Given the description of an element on the screen output the (x, y) to click on. 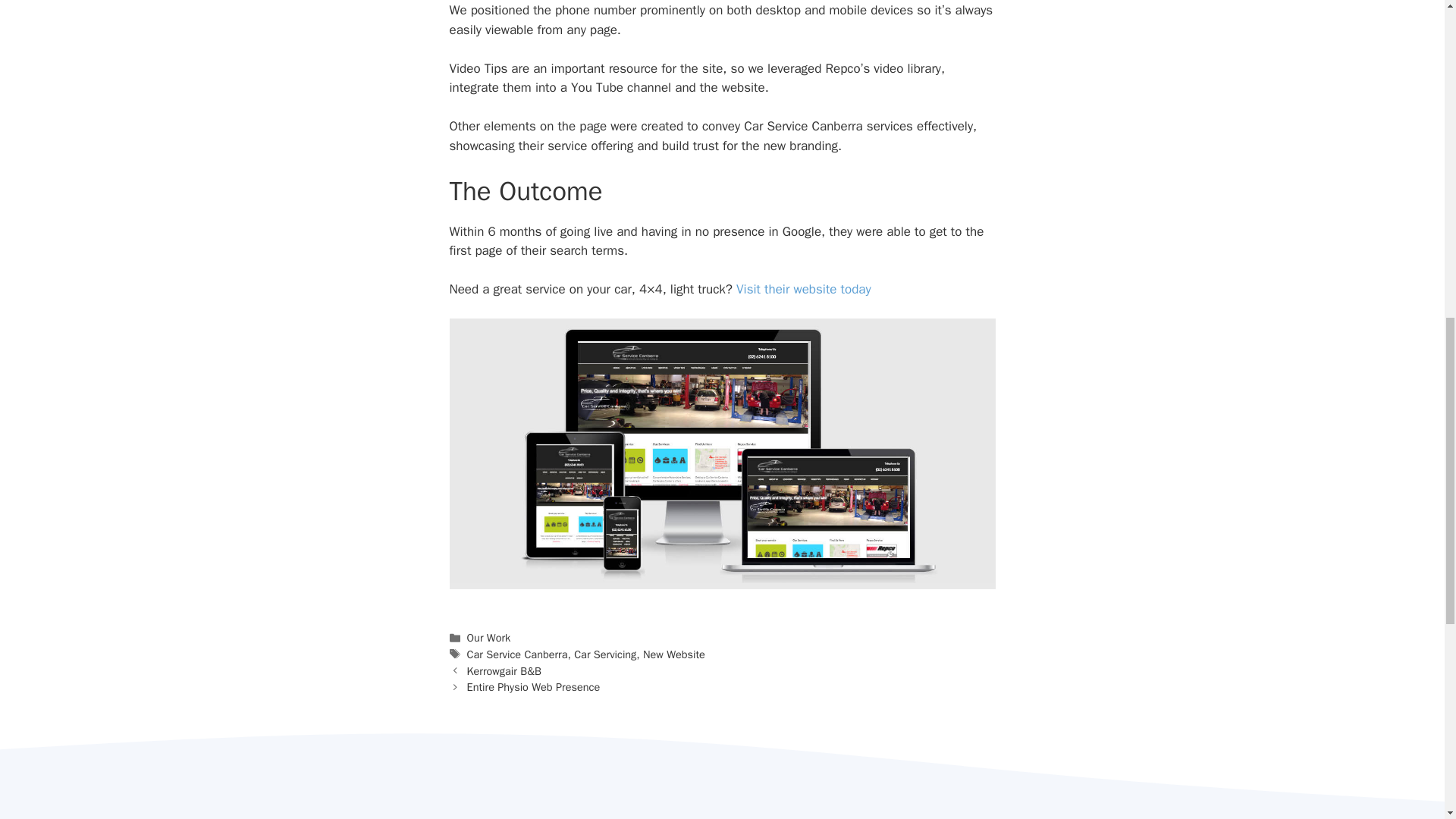
Our Work (489, 637)
Visit their website today (803, 289)
Scroll back to top (1406, 720)
New Website (673, 653)
Link to Car Service Canberra (721, 578)
Car Service Canberra (517, 653)
Car Servicing (604, 653)
